Given the description of an element on the screen output the (x, y) to click on. 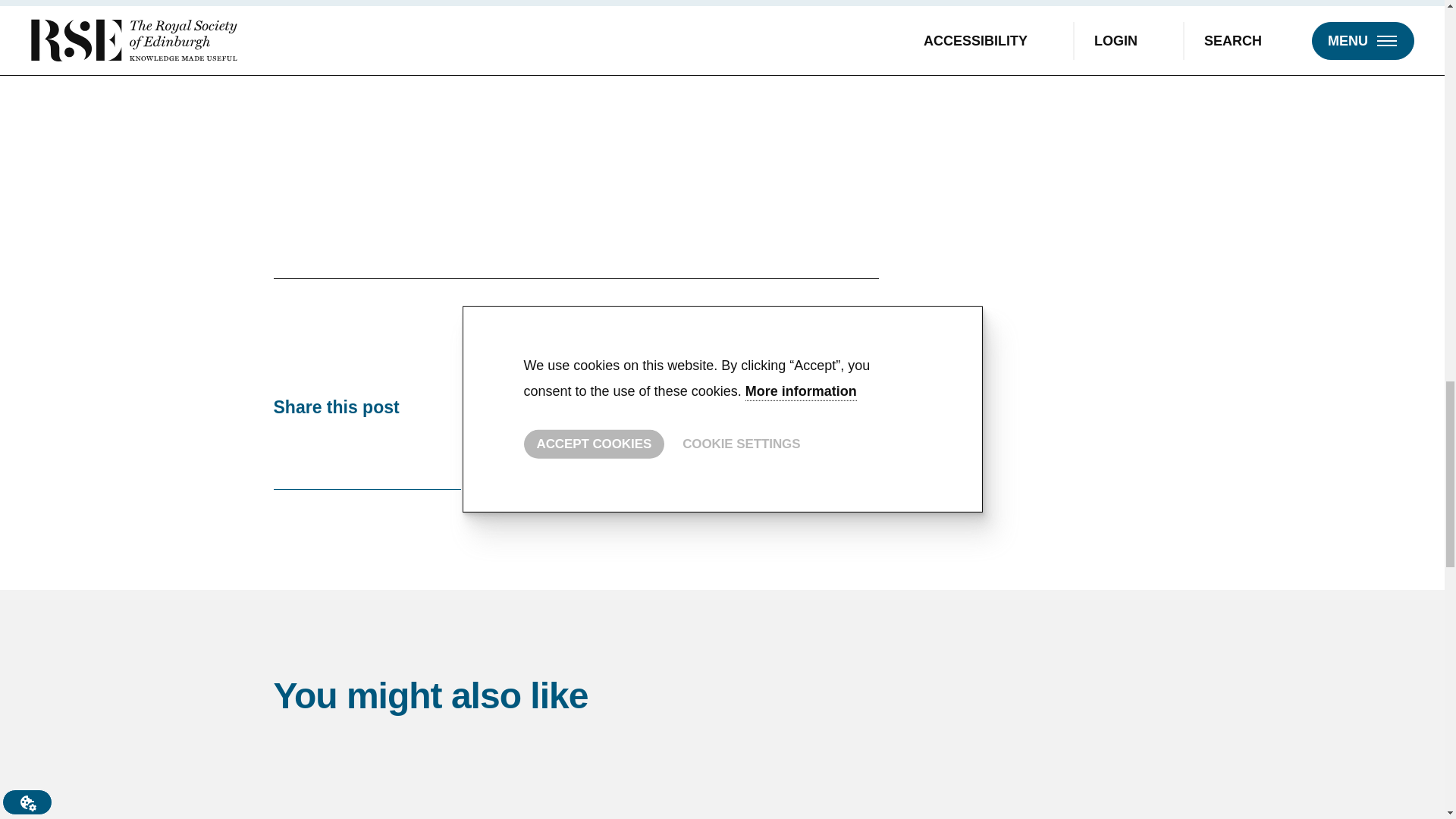
Share this post by email (449, 449)
Share this post on WhatsApp (408, 449)
Share this post on Facebook (366, 449)
Share this post on Linkedin (325, 449)
Strengthening links with Europe (721, 780)
Share this post on Twitter (284, 449)
